Given the description of an element on the screen output the (x, y) to click on. 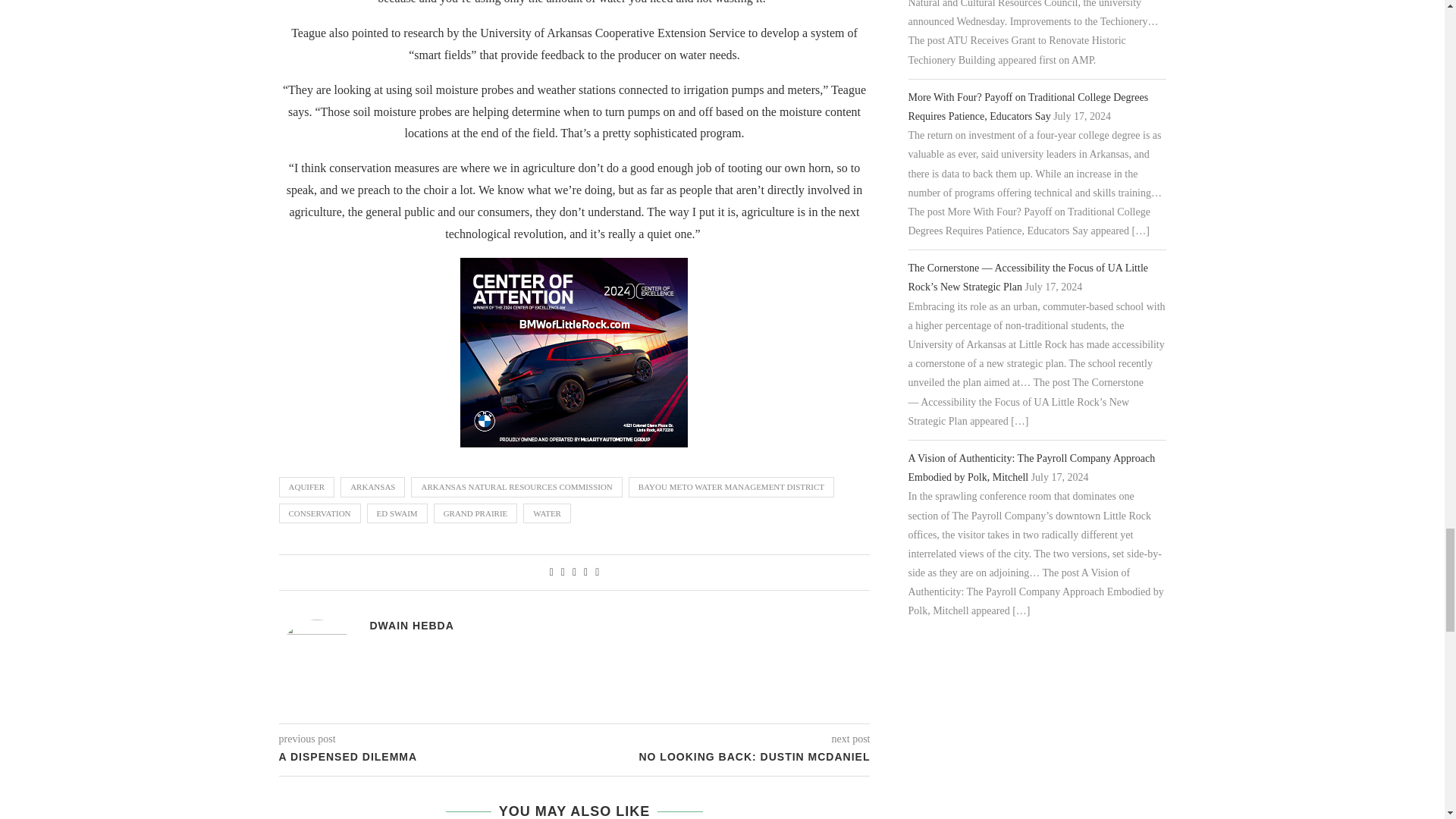
Posts by Dwain Hebda (411, 625)
